Given the description of an element on the screen output the (x, y) to click on. 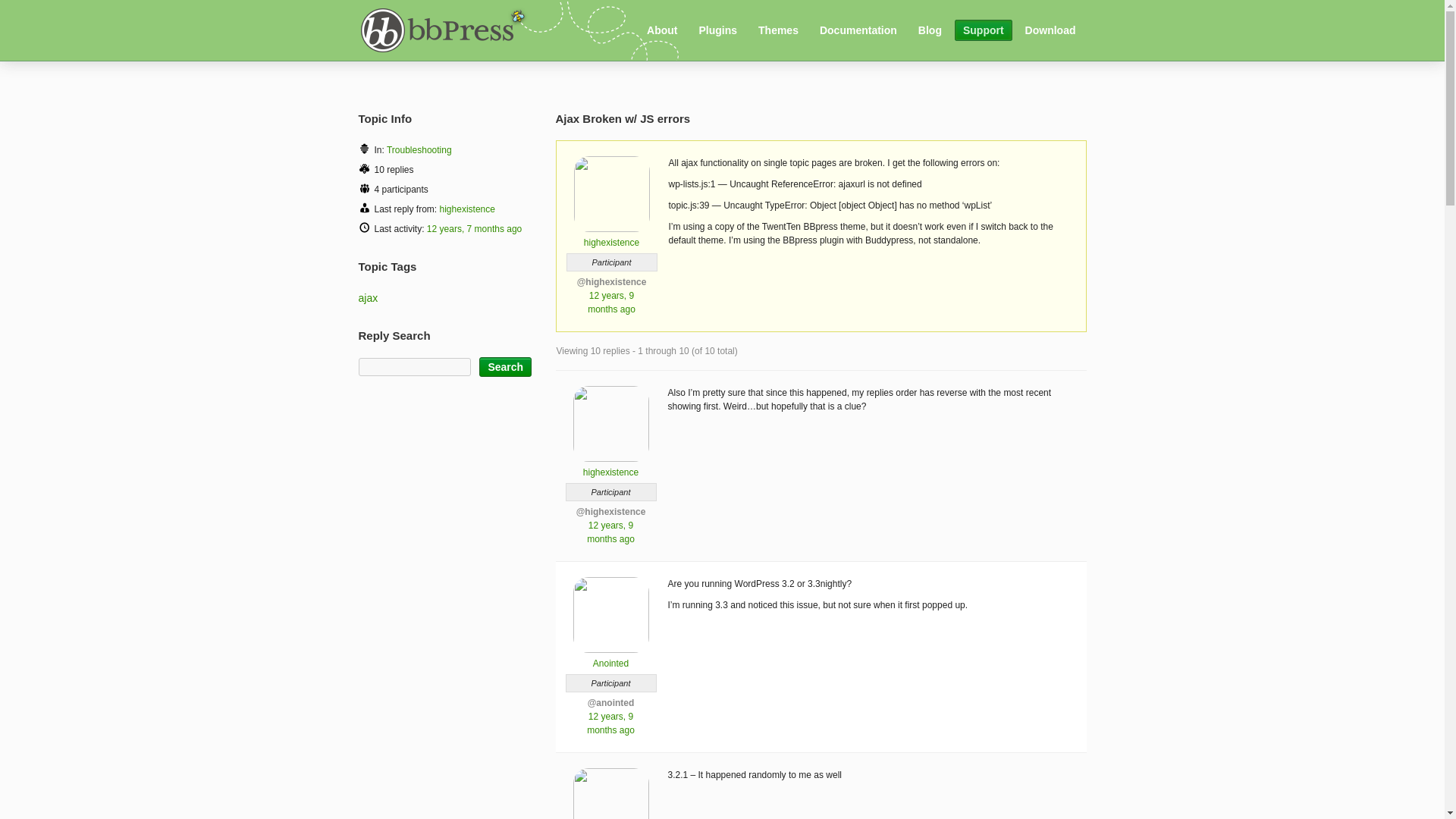
About (662, 29)
highexistence (609, 466)
12 years, 9 months ago (610, 532)
Download (1050, 29)
highexistence (611, 236)
Plugins (717, 29)
Anointed (609, 657)
Documentation (857, 29)
Blog (930, 29)
Search (505, 366)
bbPress.org (441, 29)
12 years, 9 months ago (611, 302)
Support (983, 29)
Themes (777, 29)
12 years, 9 months ago (610, 723)
